Given the description of an element on the screen output the (x, y) to click on. 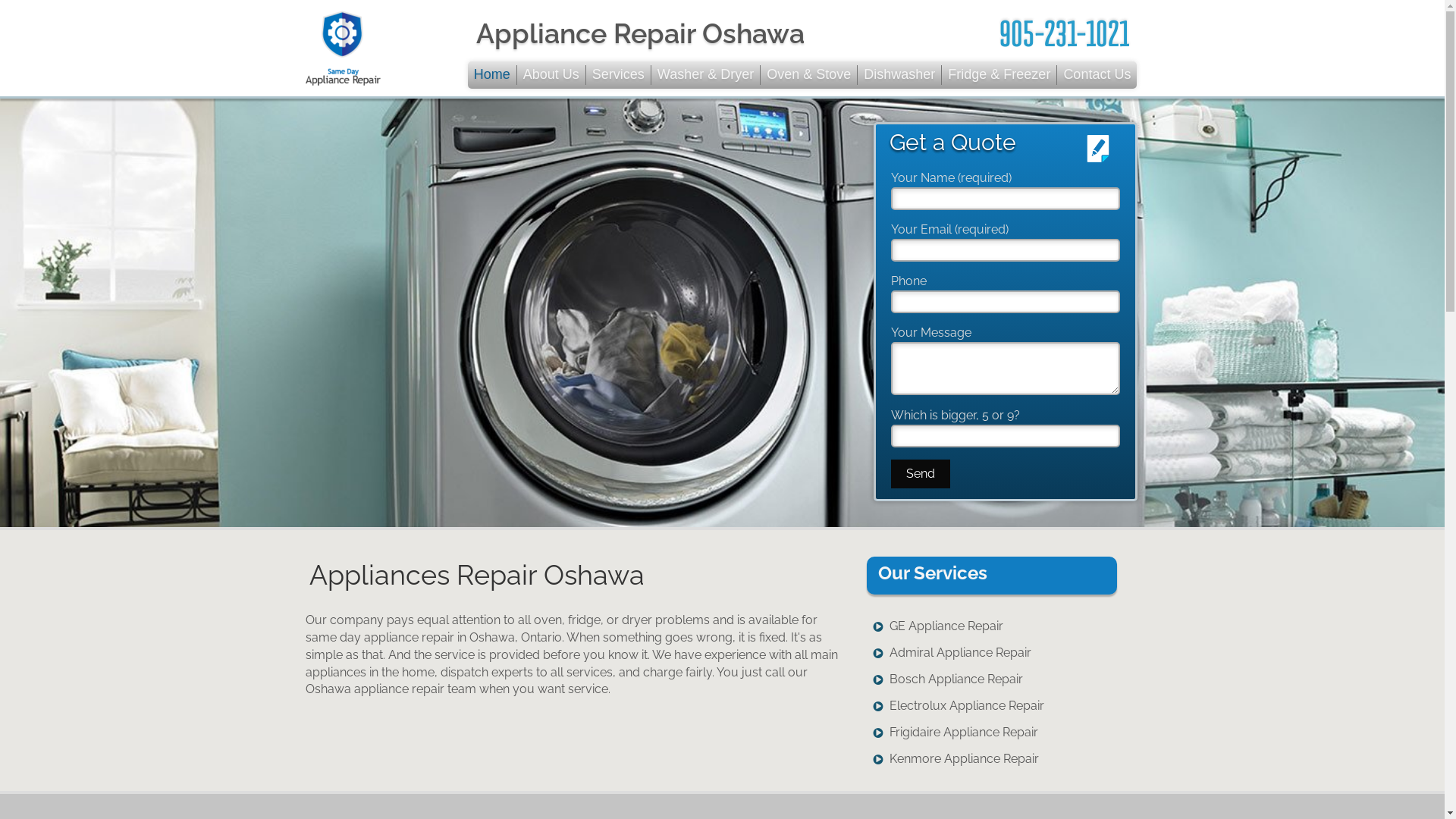
Oven & Stove Element type: text (808, 74)
Send Element type: text (920, 474)
Services Element type: text (618, 74)
Dishwasher Element type: text (899, 74)
Washer & Dryer Element type: text (705, 74)
About Us Element type: text (551, 74)
905-231-1021 Element type: text (1064, 32)
Fridge & Freezer Element type: text (999, 74)
Contact Us Element type: text (1096, 74)
Home Element type: text (492, 74)
